Given the description of an element on the screen output the (x, y) to click on. 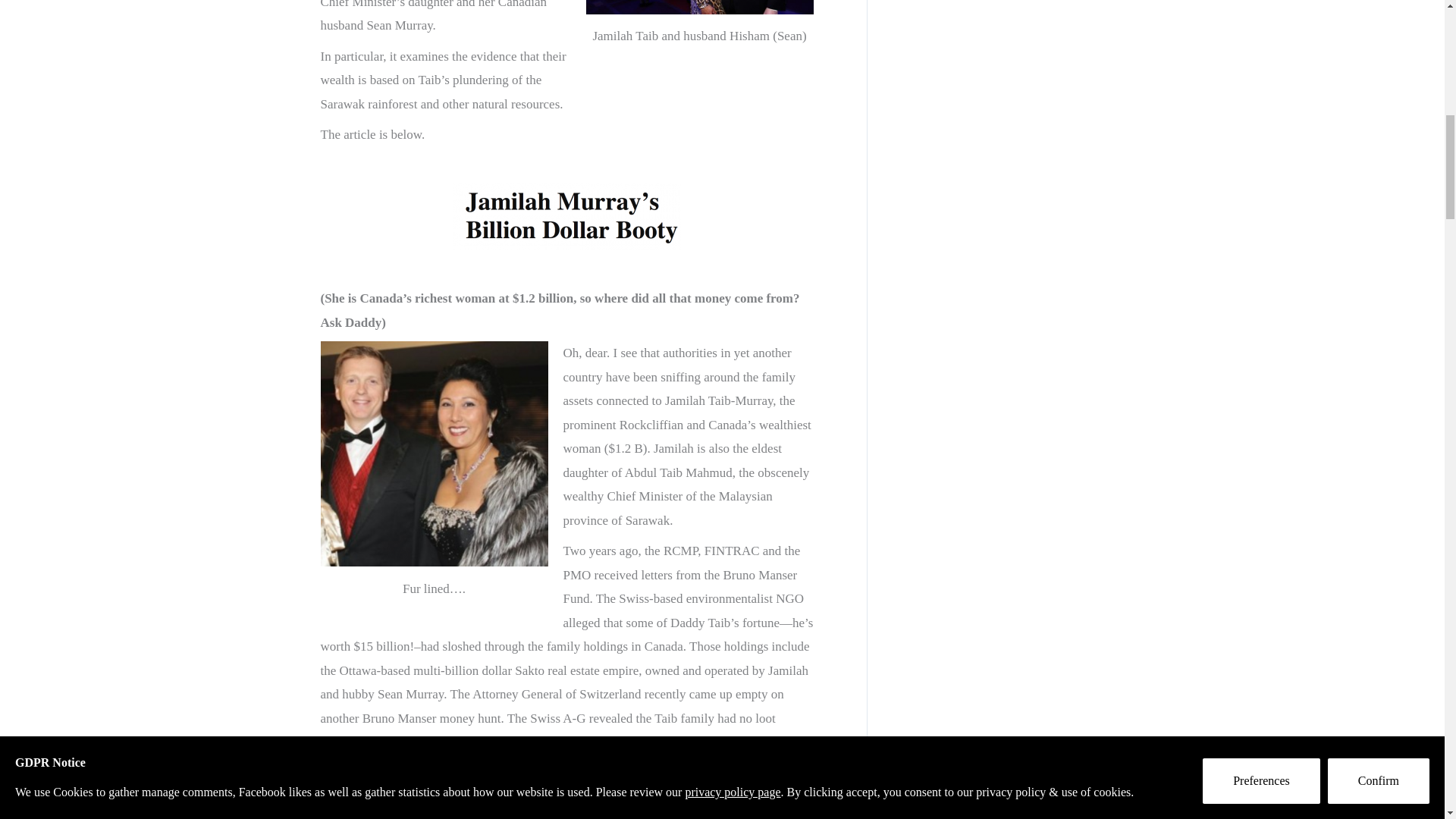
Advertisement (1012, 58)
